Given the description of an element on the screen output the (x, y) to click on. 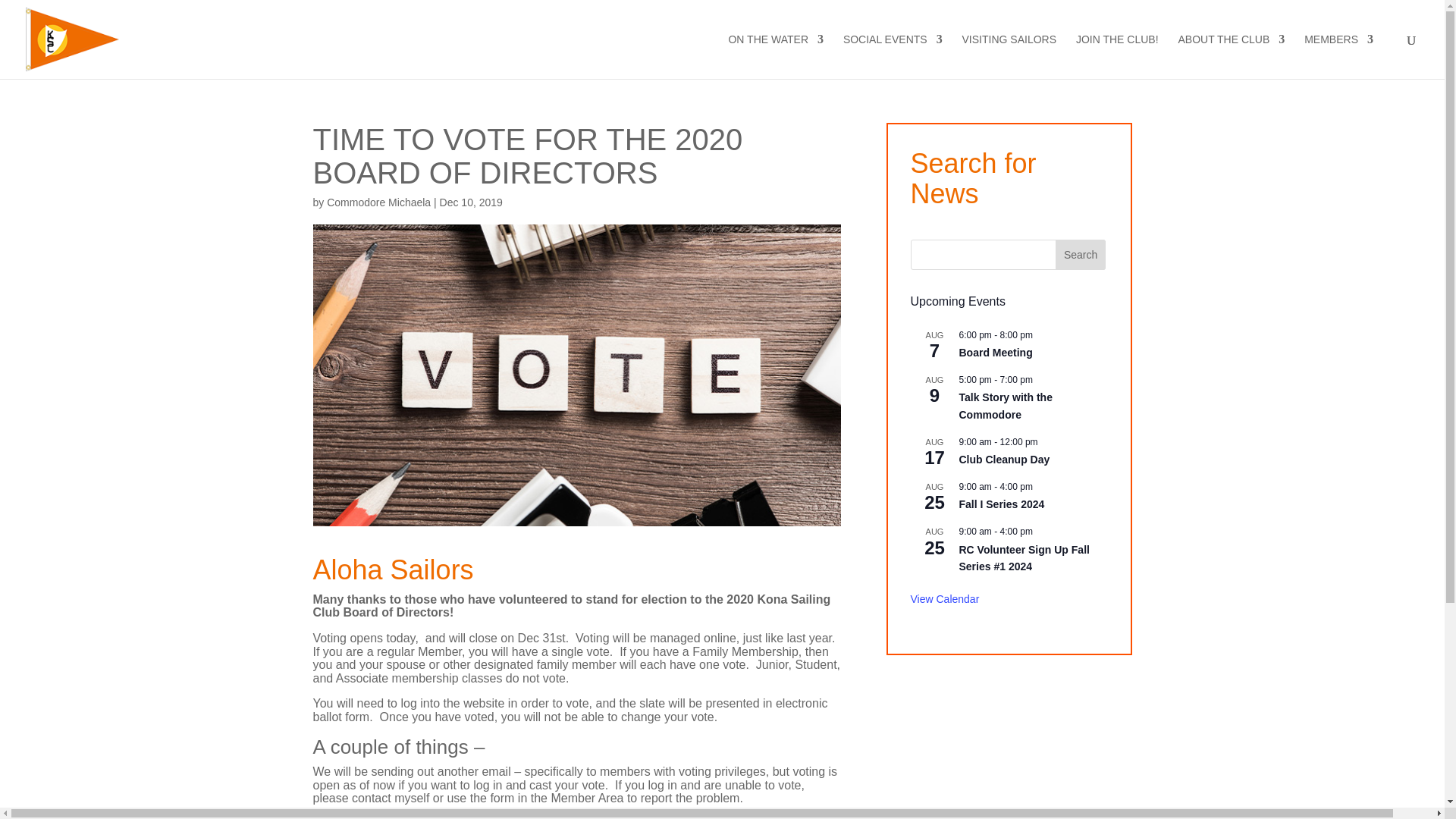
Talk Story with the Commodore (1004, 406)
VISITING SAILORS (1009, 56)
Fall I Series 2024 (1000, 504)
Board Meeting (995, 352)
MEMBERS (1338, 56)
JOIN THE CLUB! (1116, 56)
ON THE WATER (776, 56)
Search (1080, 254)
SOCIAL EVENTS (892, 56)
ABOUT THE CLUB (1230, 56)
View more events. (944, 599)
Posts by Commodore Michaela (378, 202)
Club Cleanup Day (1003, 459)
